Given the description of an element on the screen output the (x, y) to click on. 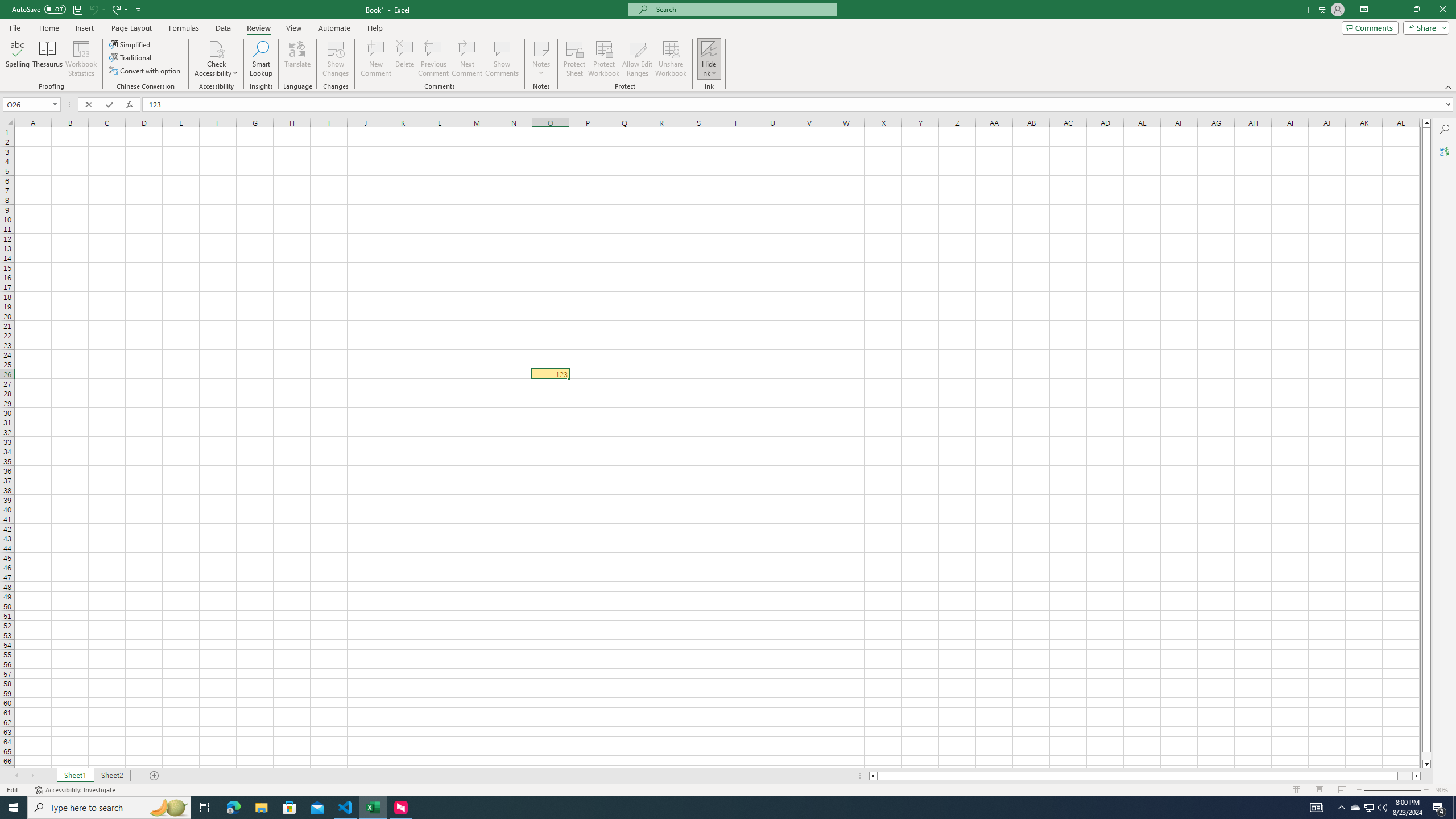
Allow Edit Ranges (637, 58)
Search (1444, 128)
Redo (115, 9)
Translate (297, 58)
Page Break Preview (1342, 790)
Normal (1296, 790)
Data (223, 28)
Class: MsoCommandBar (728, 45)
Microsoft search (742, 9)
Redo (119, 9)
Scroll Left (16, 775)
Convert with option (145, 69)
System (6, 6)
Simplified (130, 44)
Spelling... (17, 58)
